Given the description of an element on the screen output the (x, y) to click on. 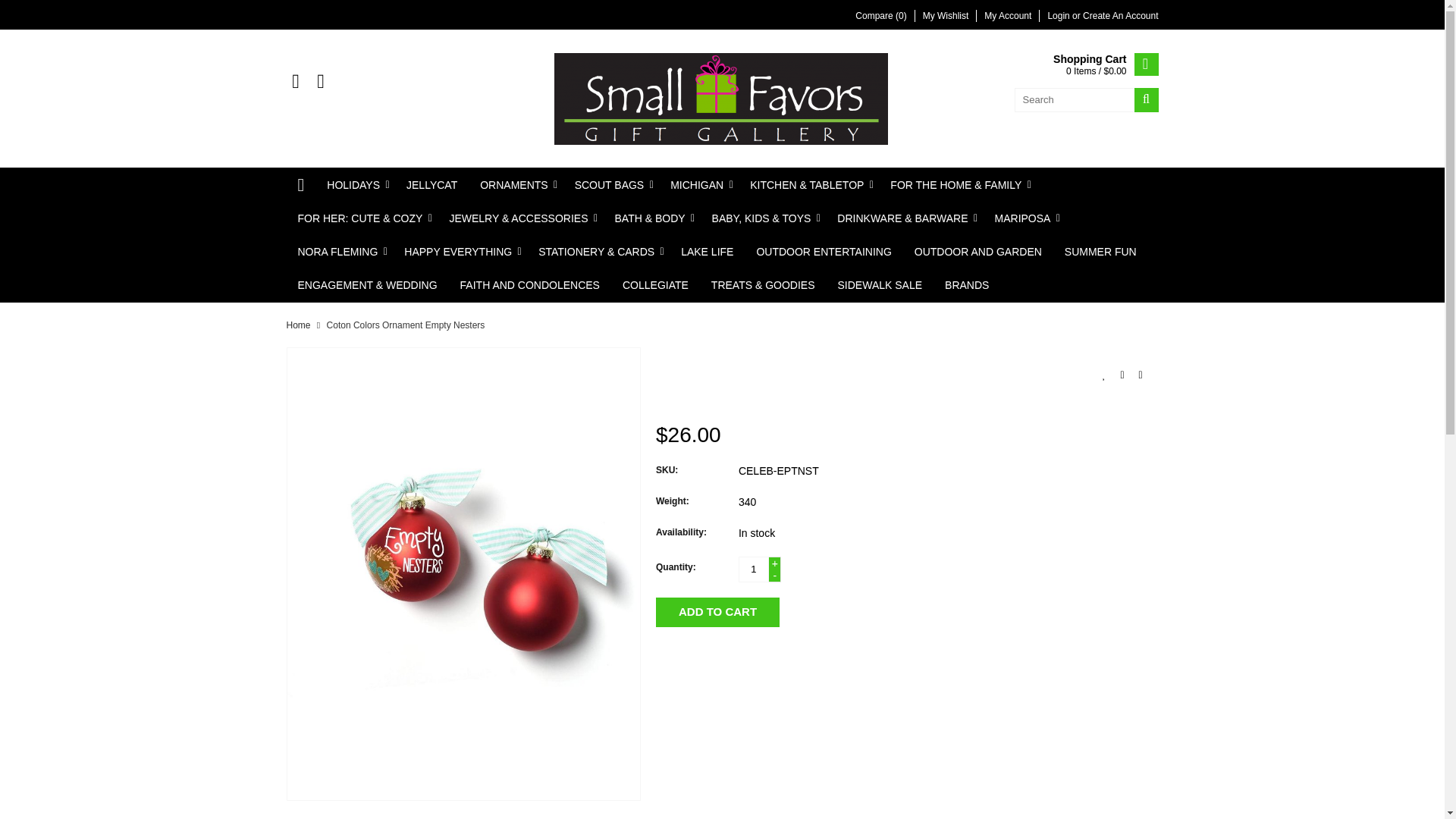
Create An Account (1120, 15)
Instagram Small Favors (320, 82)
Login (1058, 15)
My account (1058, 15)
JELLYCAT (431, 184)
Compare (880, 15)
My account (1120, 15)
My Account (1007, 15)
Cart (1104, 64)
1 (753, 569)
